Given the description of an element on the screen output the (x, y) to click on. 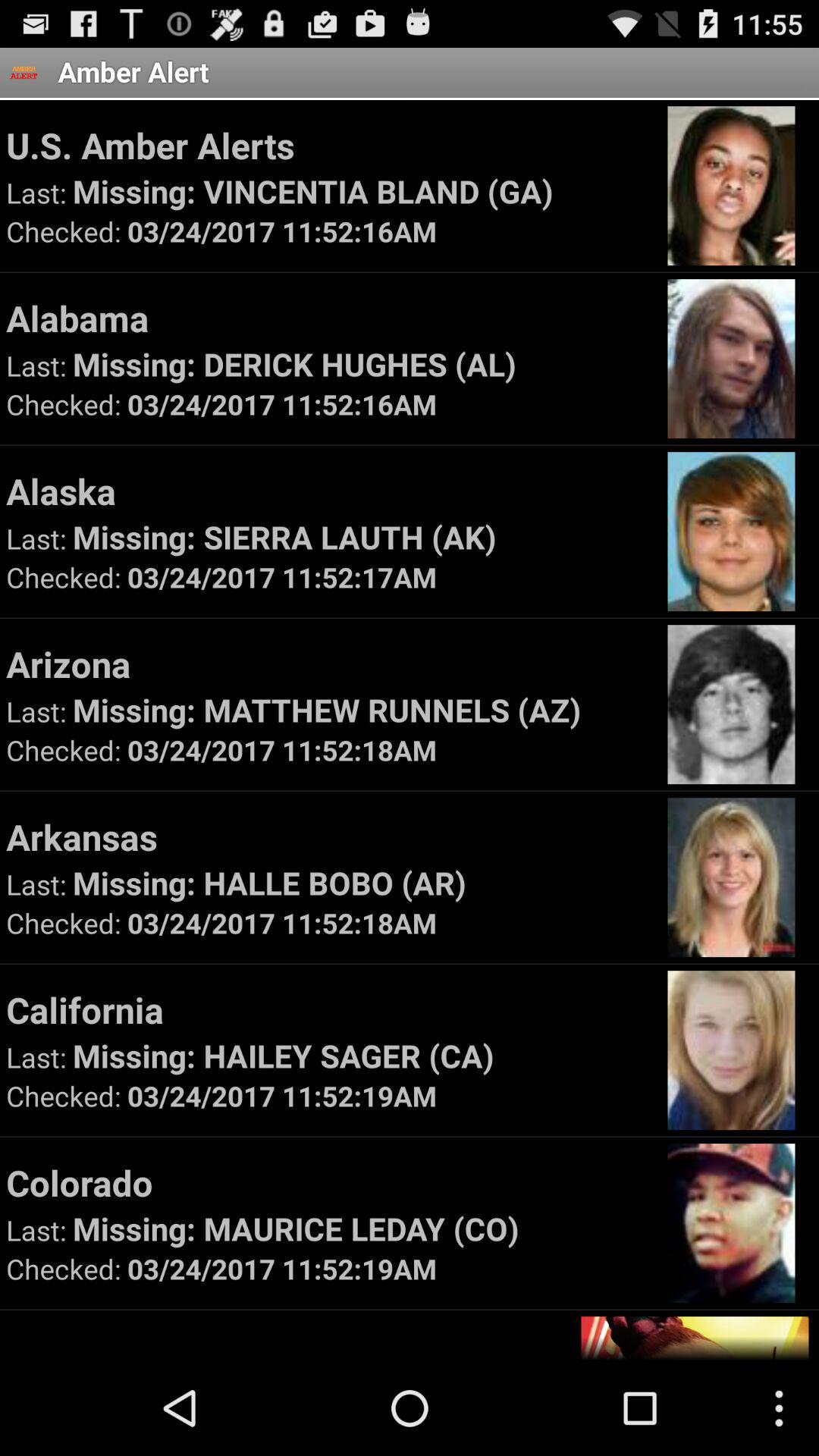
turn on alaska app (329, 490)
